Given the description of an element on the screen output the (x, y) to click on. 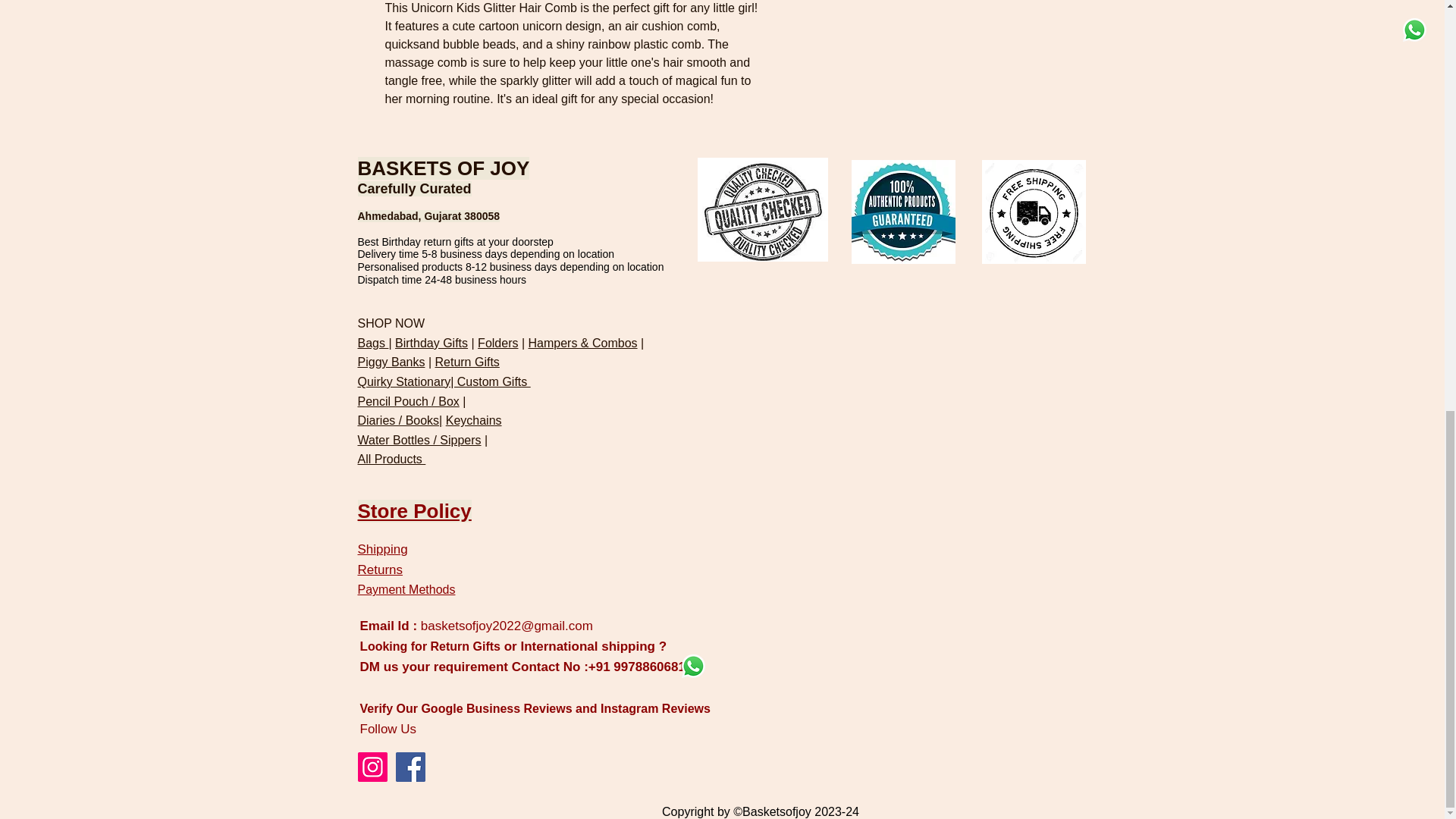
Birthday Gifts (430, 342)
Folders (497, 342)
Return Gifts (466, 361)
BASKETS OF JOY (443, 168)
Piggy Banks (391, 361)
